Given the description of an element on the screen output the (x, y) to click on. 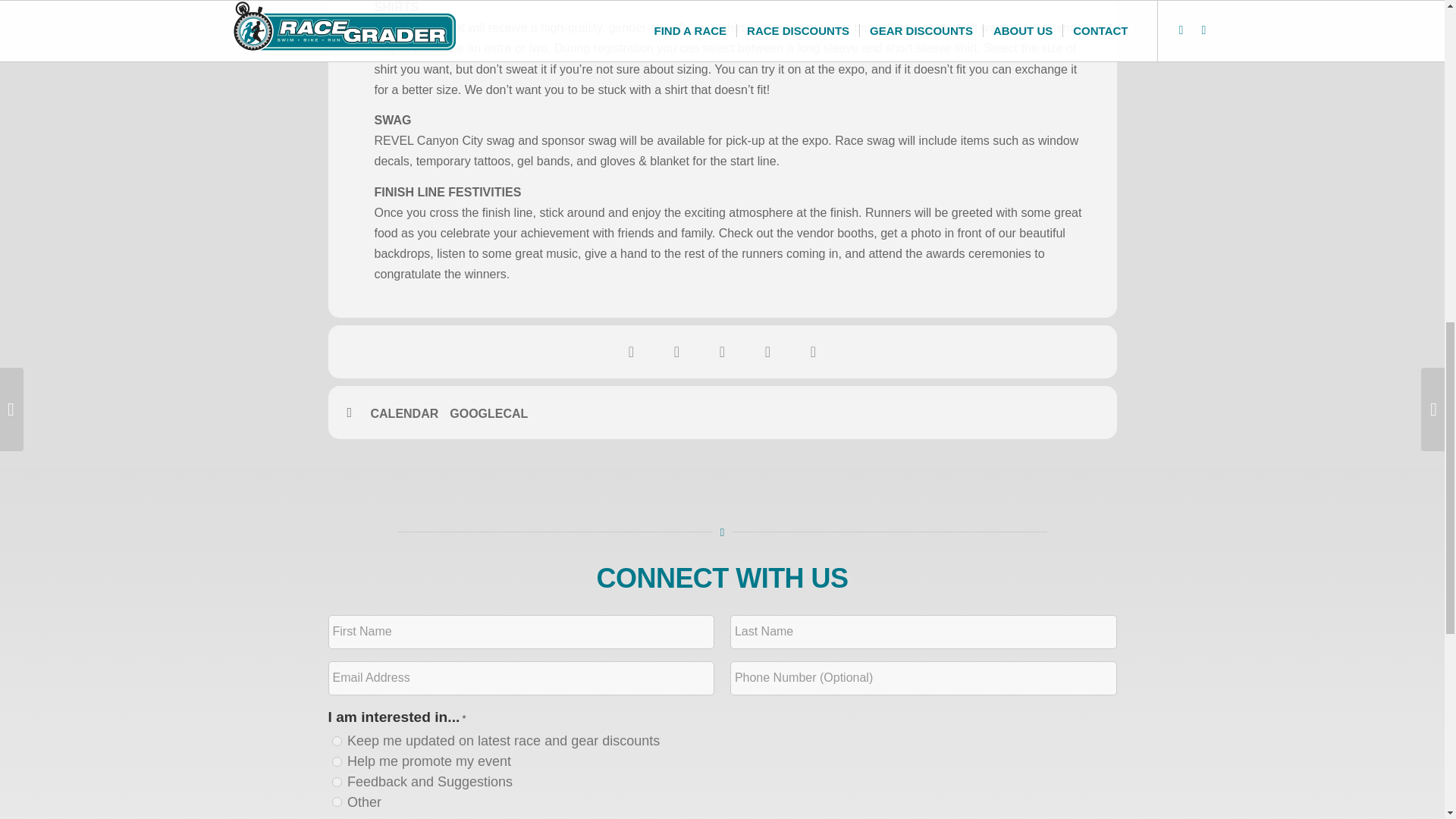
Keep me updated on latest race and gear discounts (336, 741)
Share on Linkedin (722, 351)
Share on Twitter (676, 351)
Feedback and Suggestions (336, 781)
Add to google calendar (493, 413)
Add to your calendar (409, 413)
GOOGLECAL (493, 413)
CALENDAR (409, 413)
Help me promote my event (336, 761)
Other (336, 801)
Copy Link (768, 351)
Share on facebook (631, 351)
